Given the description of an element on the screen output the (x, y) to click on. 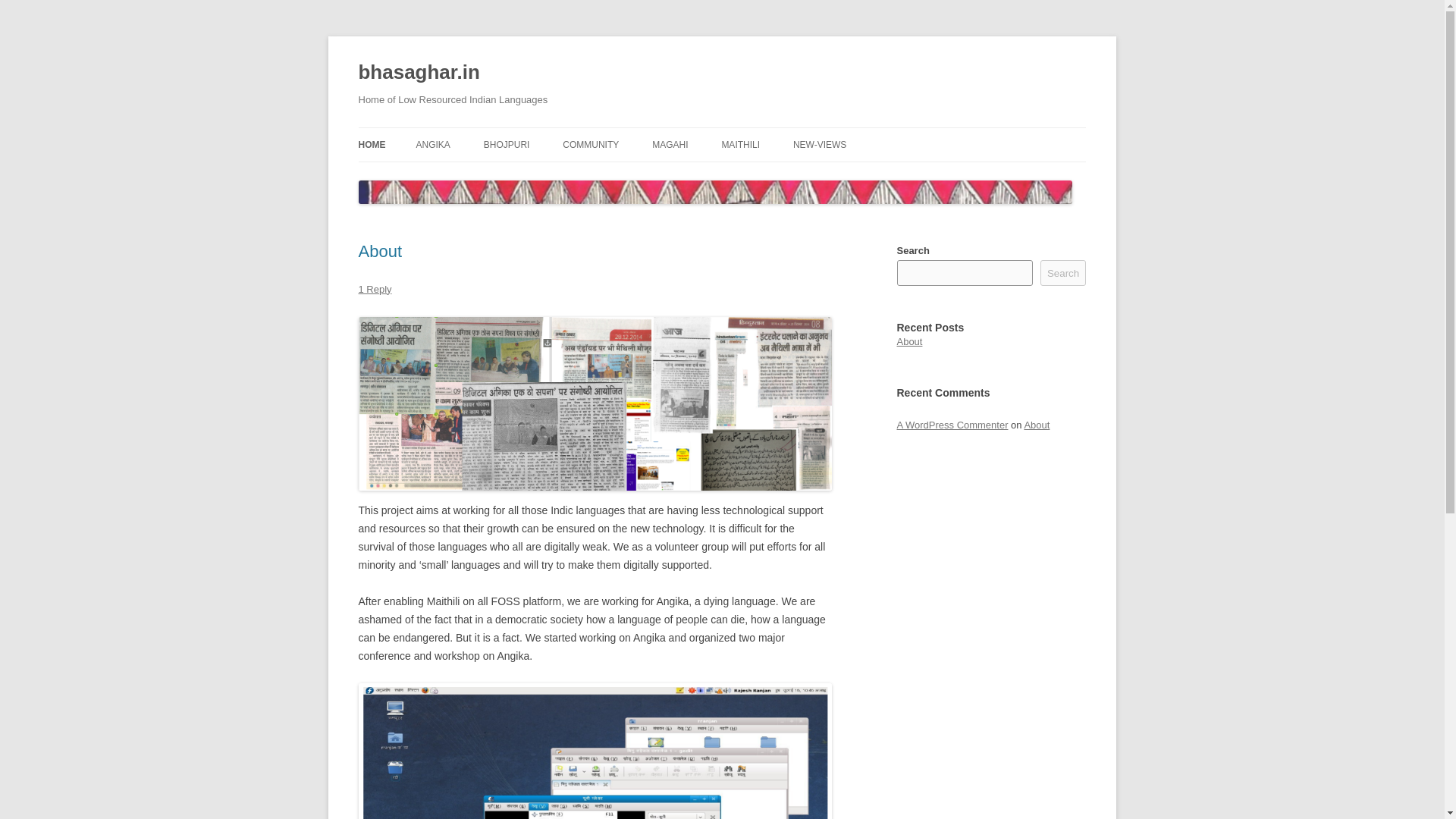
About (1036, 424)
Search (1063, 272)
ANGIKA (431, 144)
bhasaghar.in (418, 72)
About (908, 341)
1 Reply (374, 288)
About (379, 251)
BHOJPURI (506, 144)
MAGAHI (669, 144)
COMMUNITY (590, 144)
A WordPress Commenter (951, 424)
NEW-VIEWS (819, 144)
MAITHILI (740, 144)
